Given the description of an element on the screen output the (x, y) to click on. 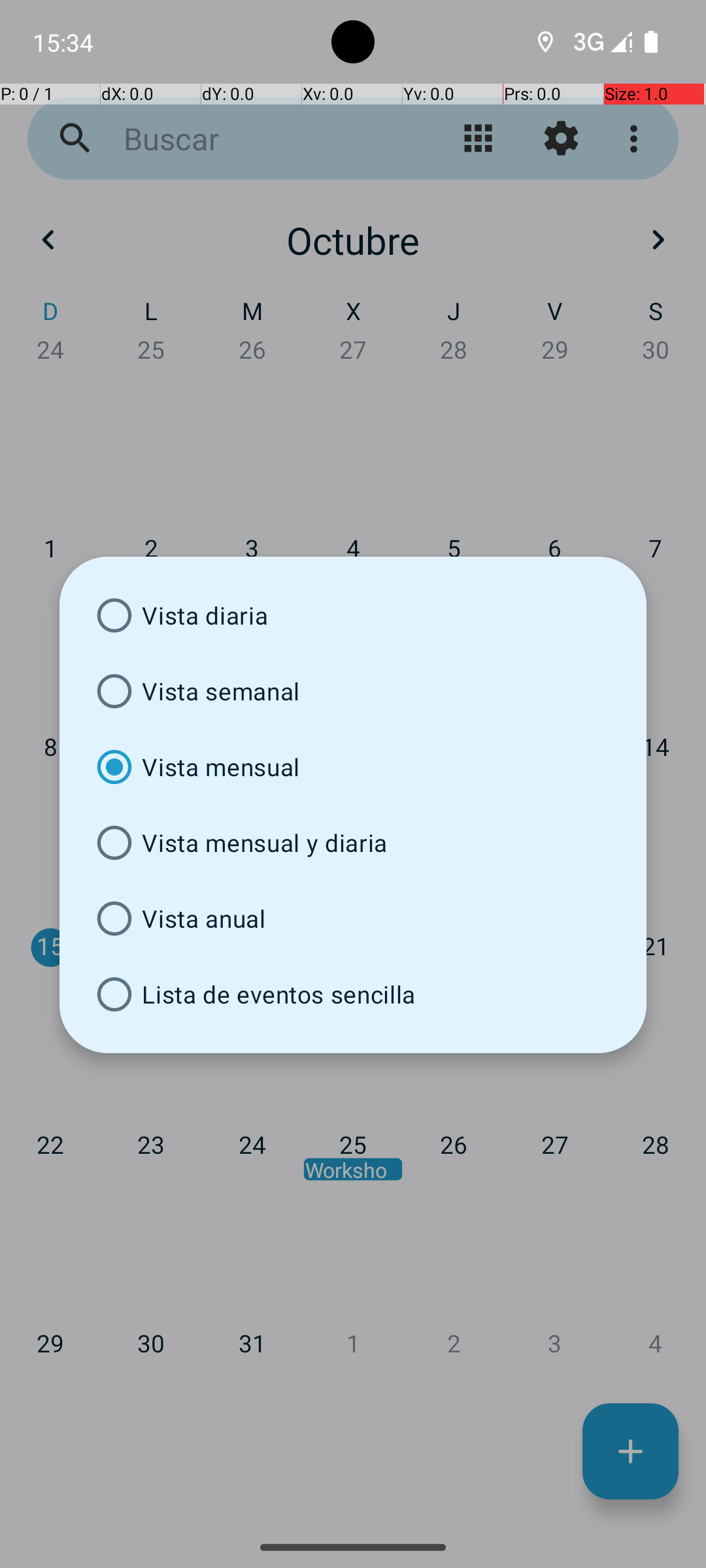
Vista diaria Element type: android.widget.RadioButton (352, 615)
Vista semanal Element type: android.widget.RadioButton (352, 691)
Vista mensual Element type: android.widget.RadioButton (352, 766)
Vista mensual y diaria Element type: android.widget.RadioButton (352, 842)
Vista anual Element type: android.widget.RadioButton (352, 918)
Lista de eventos sencilla Element type: android.widget.RadioButton (352, 994)
